Given the description of an element on the screen output the (x, y) to click on. 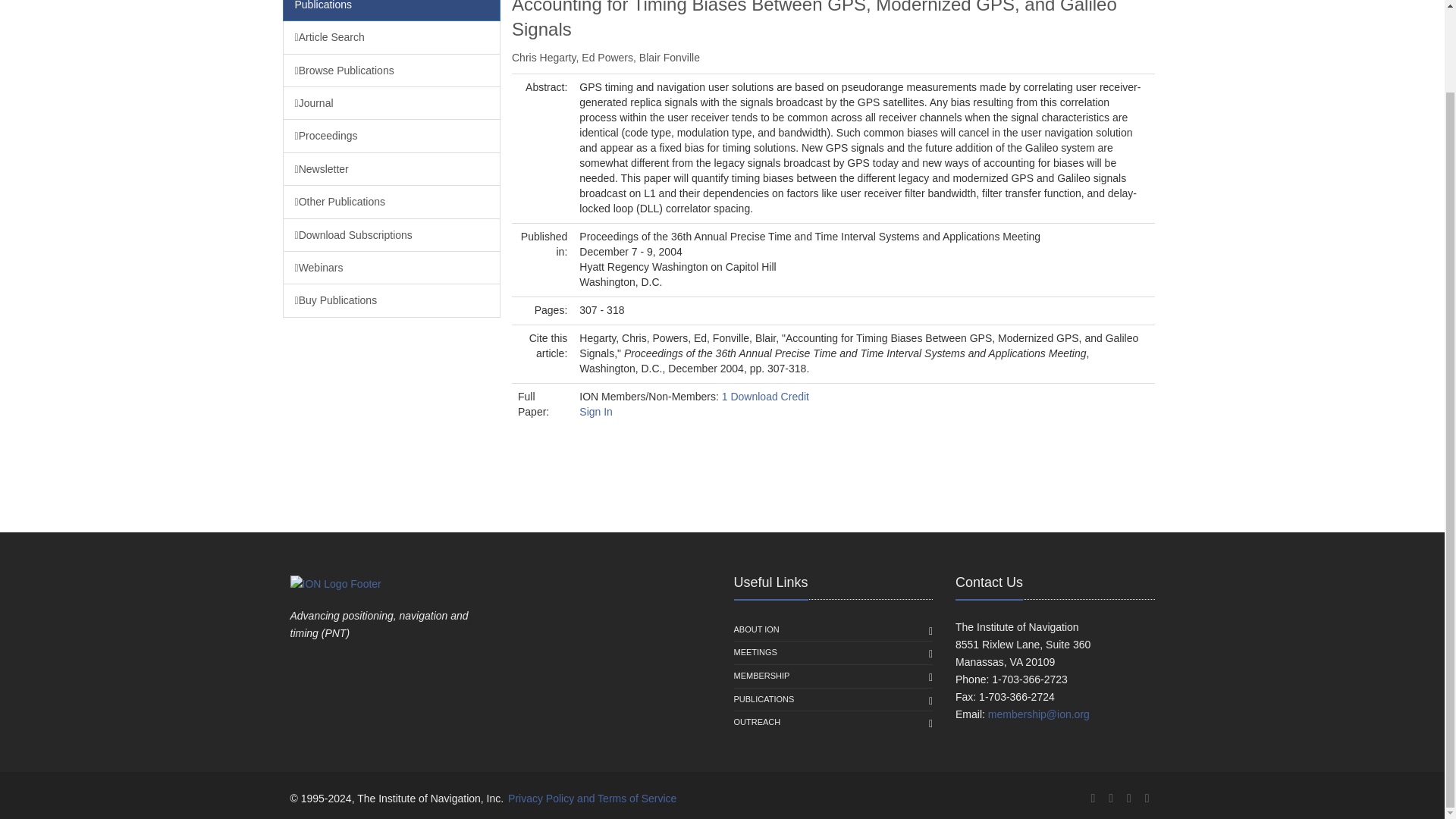
ION Logo Footer (334, 583)
